Given the description of an element on the screen output the (x, y) to click on. 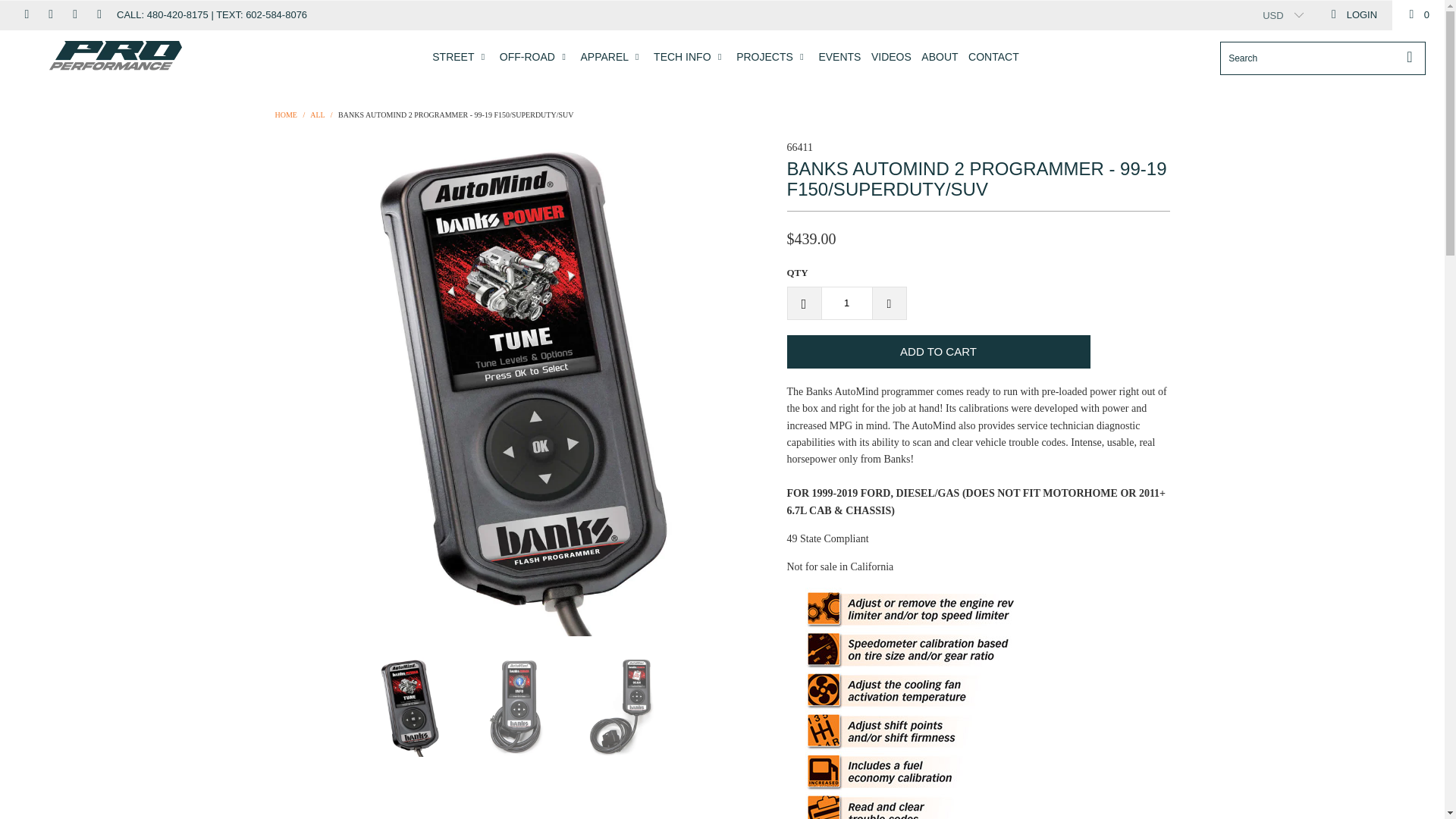
Pro Performance on Instagram (73, 14)
All (317, 114)
Pro Performance on YouTube (49, 14)
Pro Performance on Facebook (25, 14)
Pro Performance (286, 114)
1 (846, 303)
Banks AutoMind features (900, 703)
My Account  (1353, 15)
Email Pro Performance (97, 14)
Pro Performance (115, 56)
